Given the description of an element on the screen output the (x, y) to click on. 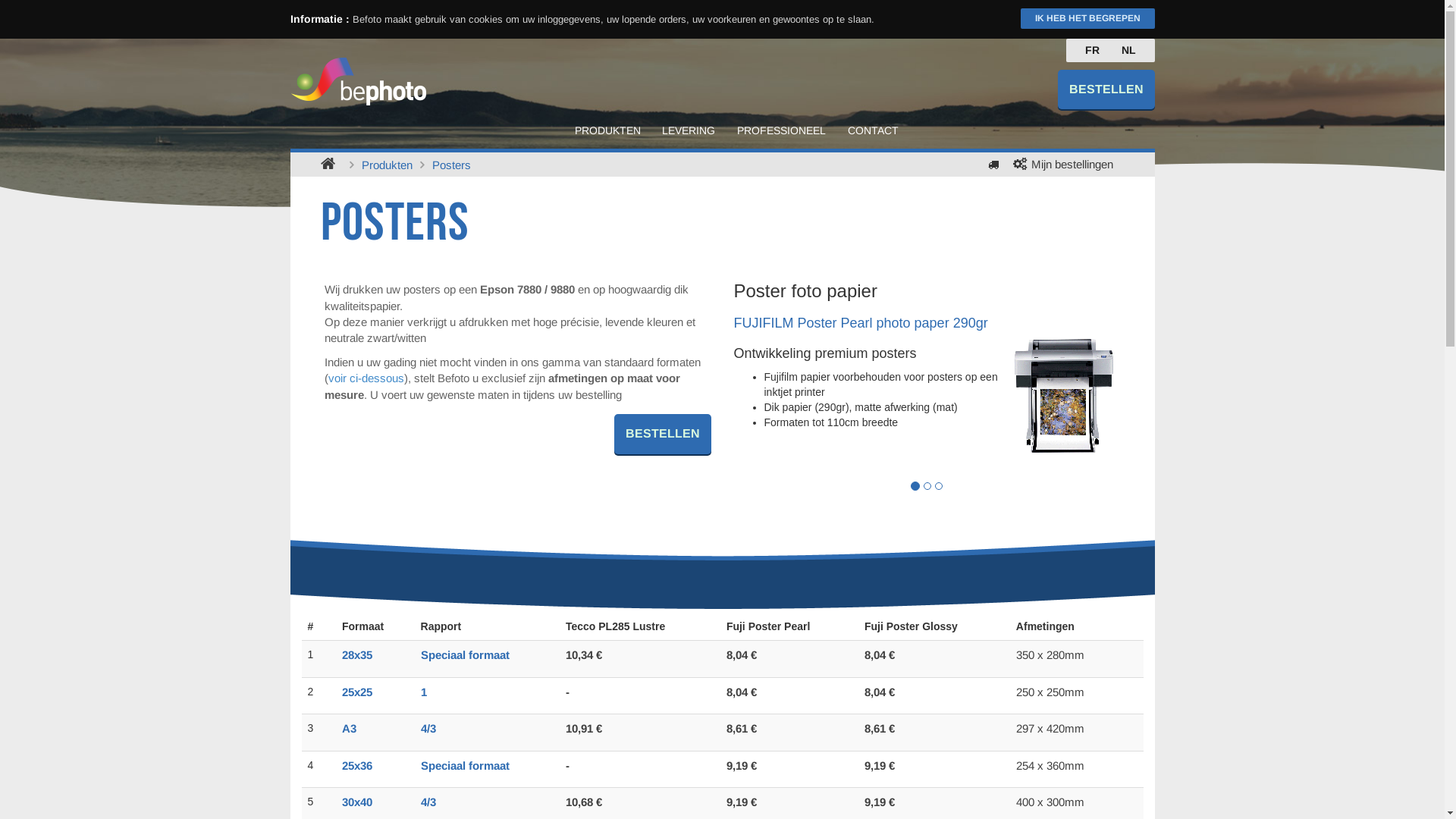
NL Element type: text (1127, 49)
FR Element type: text (1092, 49)
Mijn bestellingen Element type: text (1072, 163)
Produkten Element type: text (386, 165)
BESTELLEN Element type: text (1105, 89)
LEVERING Element type: text (688, 130)
IK HEB HET BEGREPEN Element type: text (1087, 18)
CONTACT Element type: text (872, 130)
voir ci-dessous Element type: text (365, 377)
BESTELLEN Element type: text (662, 434)
Posters Element type: text (451, 165)
PRODUKTEN Element type: text (607, 130)
PROFESSIONEEL Element type: text (781, 130)
